Given the description of an element on the screen output the (x, y) to click on. 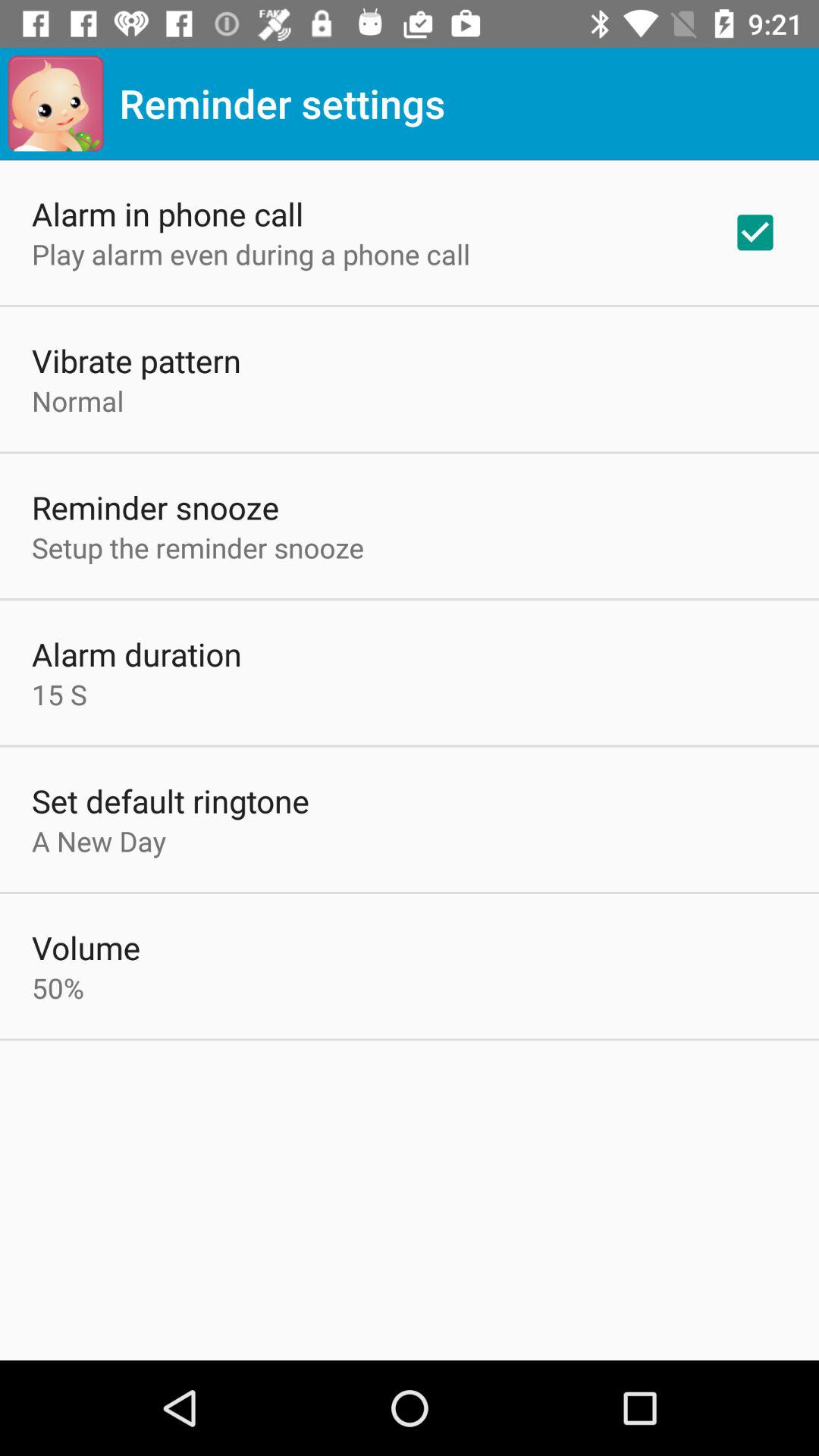
select a new day item (98, 840)
